Given the description of an element on the screen output the (x, y) to click on. 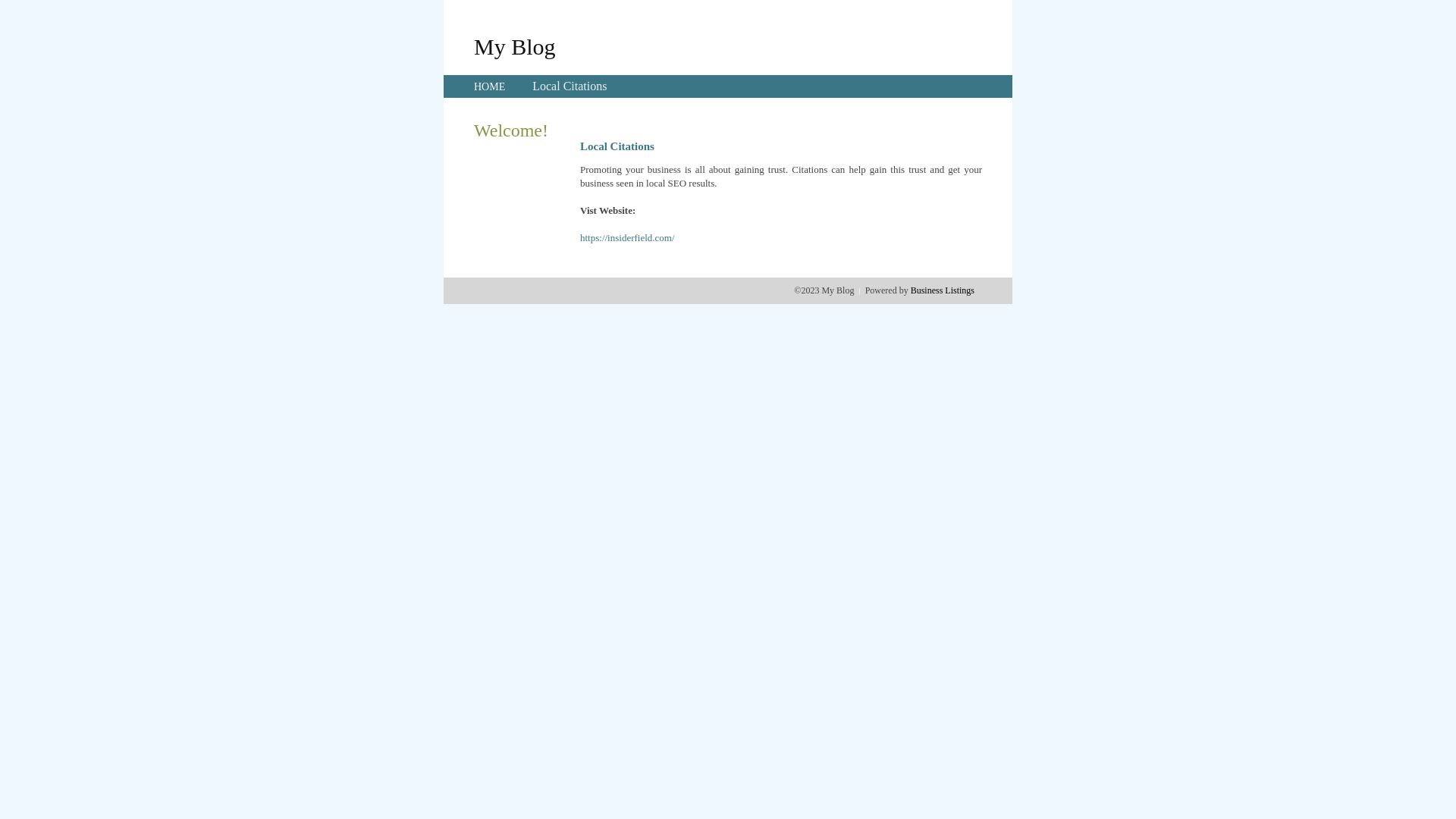
https://insiderfield.com/ Element type: text (627, 237)
Local Citations Element type: text (569, 85)
My Blog Element type: text (514, 46)
Business Listings Element type: text (942, 290)
HOME Element type: text (489, 86)
